Given the description of an element on the screen output the (x, y) to click on. 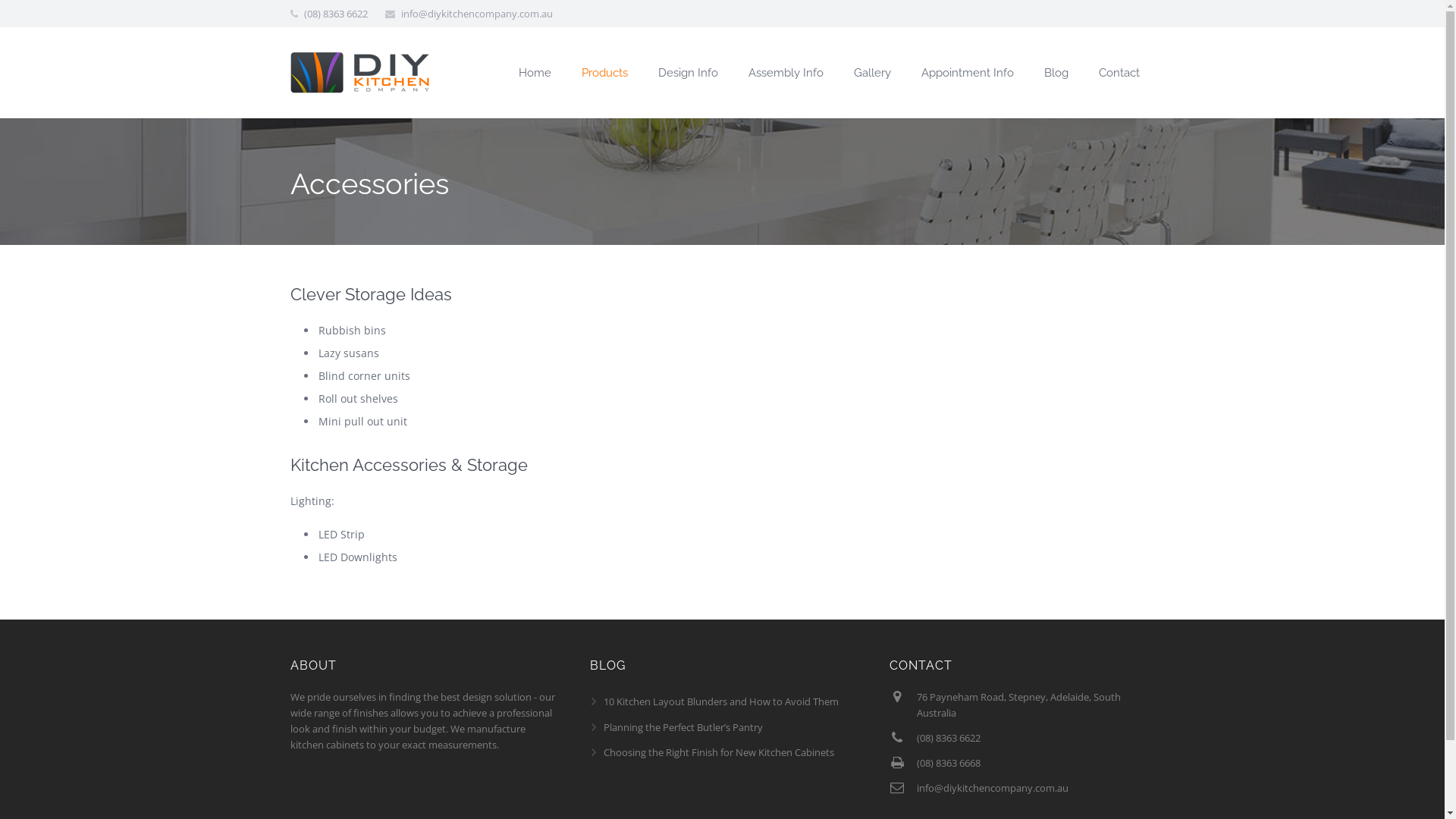
Products Element type: text (603, 72)
Appointment Info Element type: text (966, 72)
Design Info Element type: text (688, 72)
(08) 8363 6622 Element type: text (948, 737)
Contact Element type: text (1118, 72)
Assembly Info Element type: text (784, 72)
10 Kitchen Layout Blunders and How to Avoid Them Element type: text (720, 701)
info@diykitchencompany.com.au Element type: text (992, 787)
Gallery Element type: text (872, 72)
Home Element type: text (534, 72)
Choosing the Right Finish for New Kitchen Cabinets Element type: text (718, 752)
info@diykitchencompany.com.au Element type: text (476, 13)
Blog Element type: text (1055, 72)
